Given the description of an element on the screen output the (x, y) to click on. 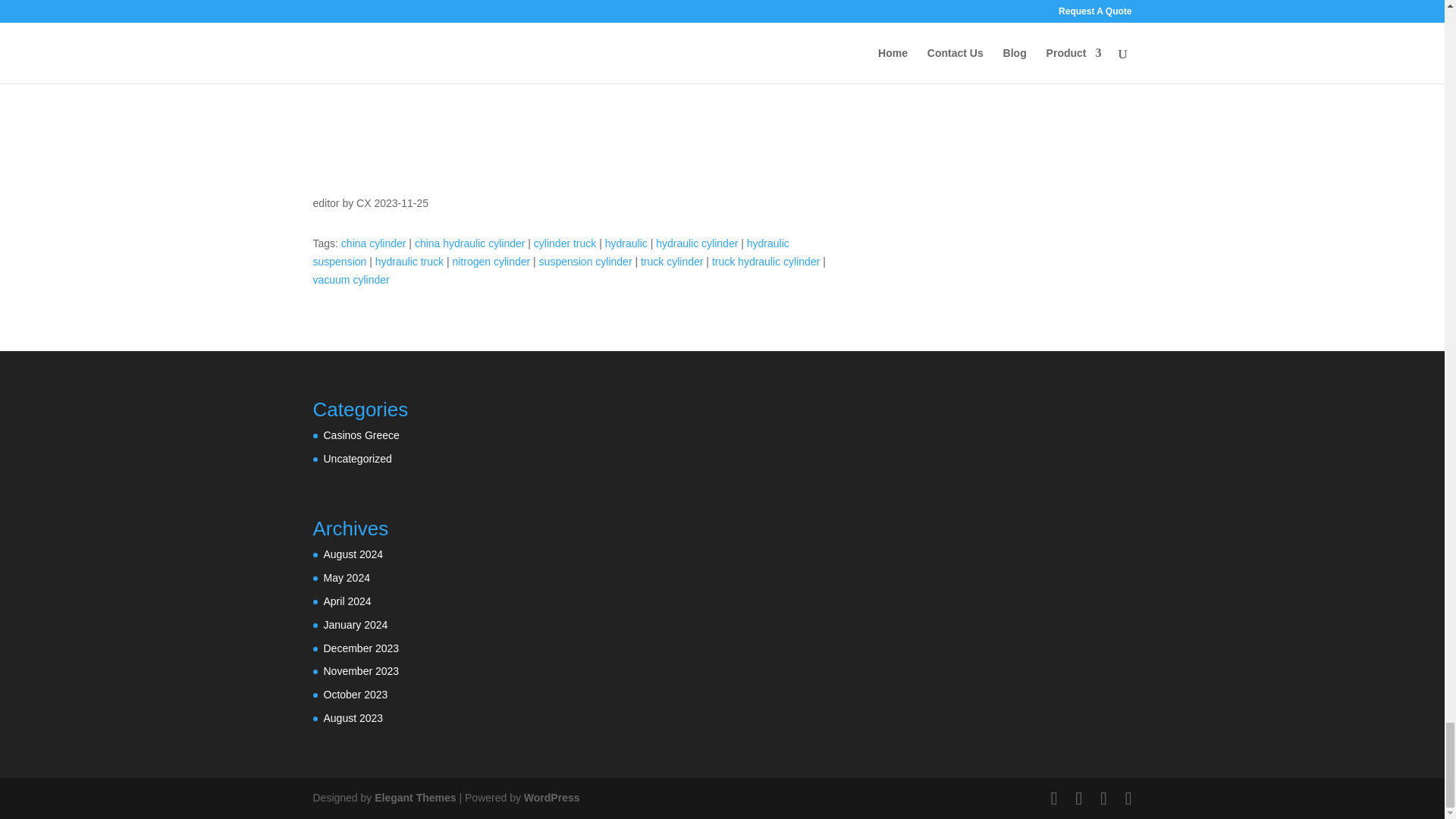
suspension cylinder (584, 261)
hydraulic cylinder (697, 243)
Uncategorized (357, 458)
nitrogen cylinder (490, 261)
truck cylinder (671, 261)
china hydraulic cylinder (469, 243)
April 2024 (347, 601)
vacuum cylinder (350, 279)
Casinos Greece (360, 435)
truck hydraulic cylinder (765, 261)
